Given the description of an element on the screen output the (x, y) to click on. 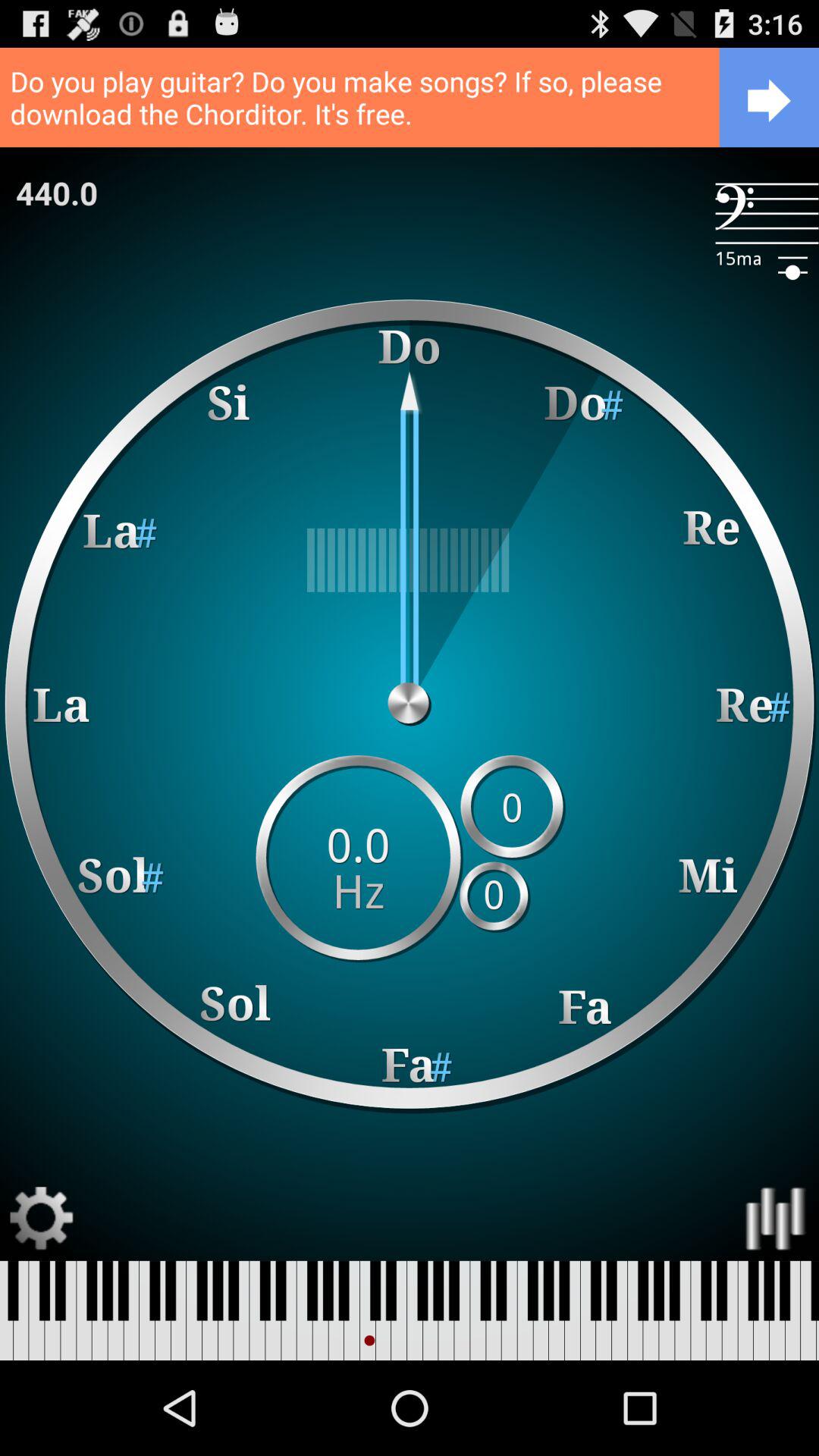
launch the app next to 440.0 item (767, 213)
